Given the description of an element on the screen output the (x, y) to click on. 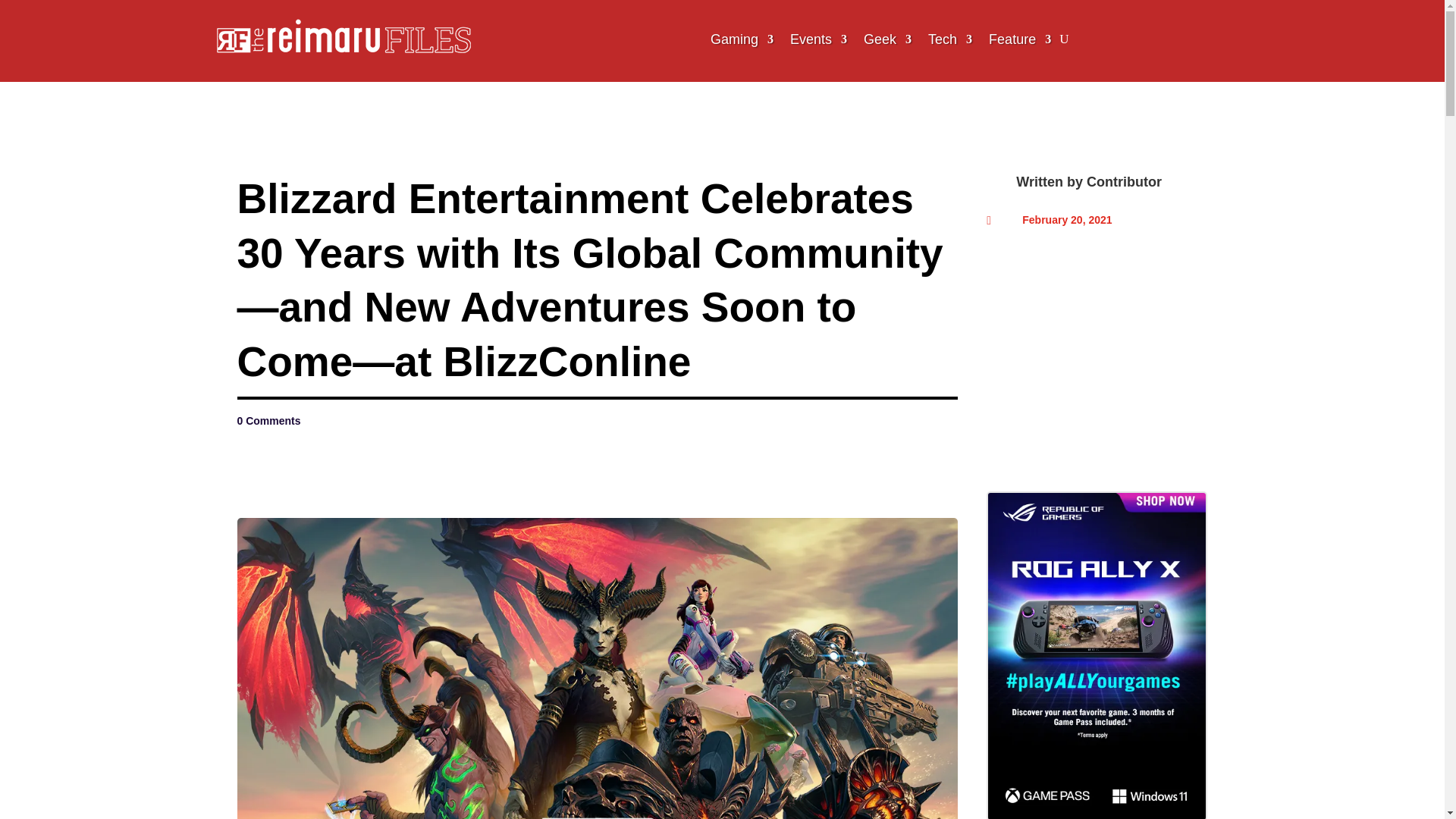
0 Comments (267, 420)
Feature (1019, 38)
Contributor (1123, 181)
Gaming (741, 38)
Events (818, 38)
